Given the description of an element on the screen output the (x, y) to click on. 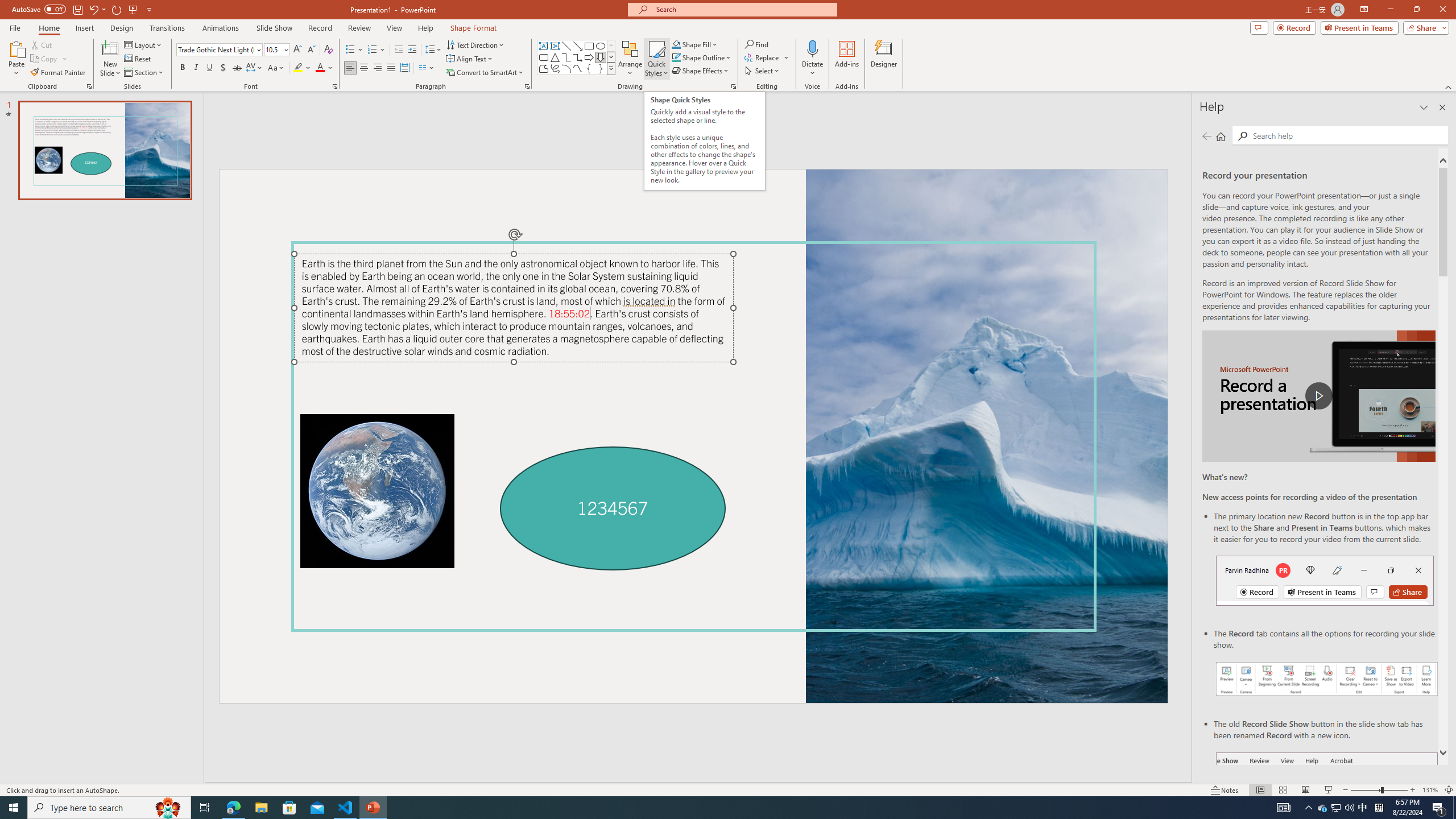
Text Direction (476, 44)
Format Painter (58, 72)
Find... (756, 44)
Shape Fill Aqua, Accent 2 (675, 44)
Reset (138, 58)
Shapes (611, 68)
